Given the description of an element on the screen output the (x, y) to click on. 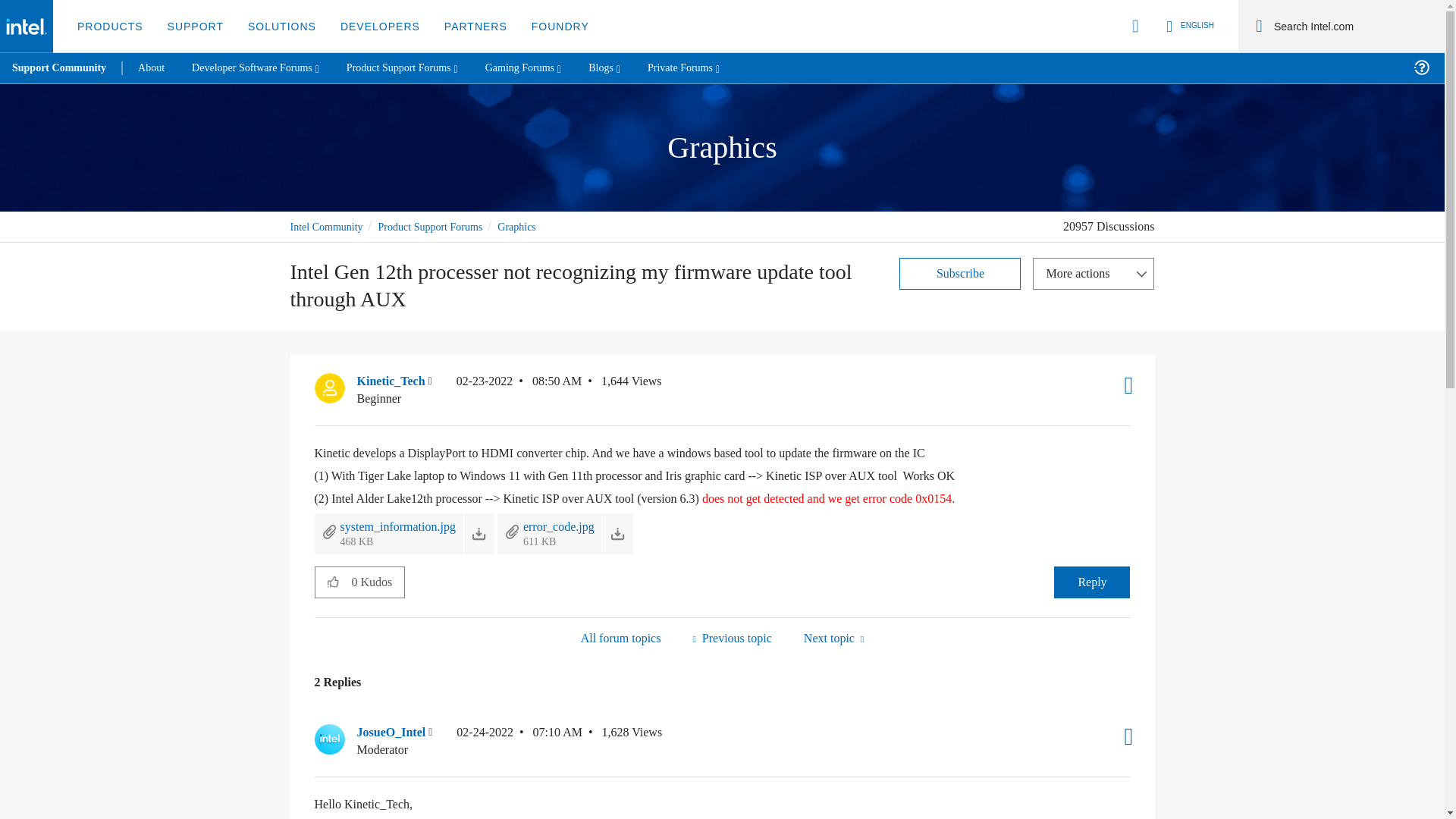
Download attachment (618, 533)
Show option menu (1093, 273)
The total number of kudos this post has received. (377, 582)
Intel UHD Graphic 770 - 10 bit color not available (833, 638)
Posted on (519, 390)
Download attachment (478, 533)
Click here to give kudos to this post. (332, 581)
PRODUCTS (110, 26)
Attachment (512, 531)
Integrated GPU (731, 638)
Attachment (328, 531)
Language Selector (1187, 26)
Graphics (620, 638)
